Given the description of an element on the screen output the (x, y) to click on. 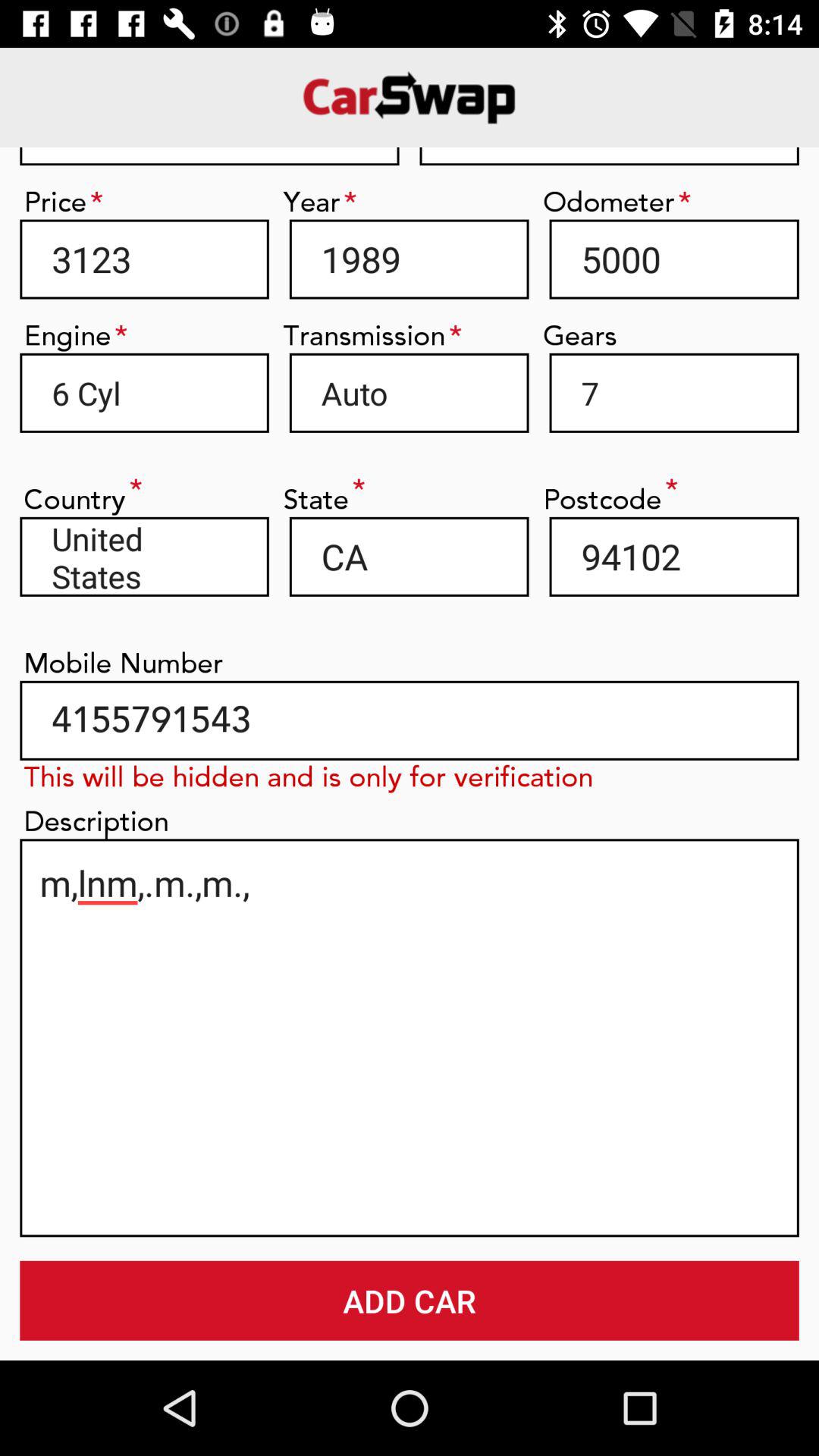
open item next to the 6451645 item (209, 156)
